Given the description of an element on the screen output the (x, y) to click on. 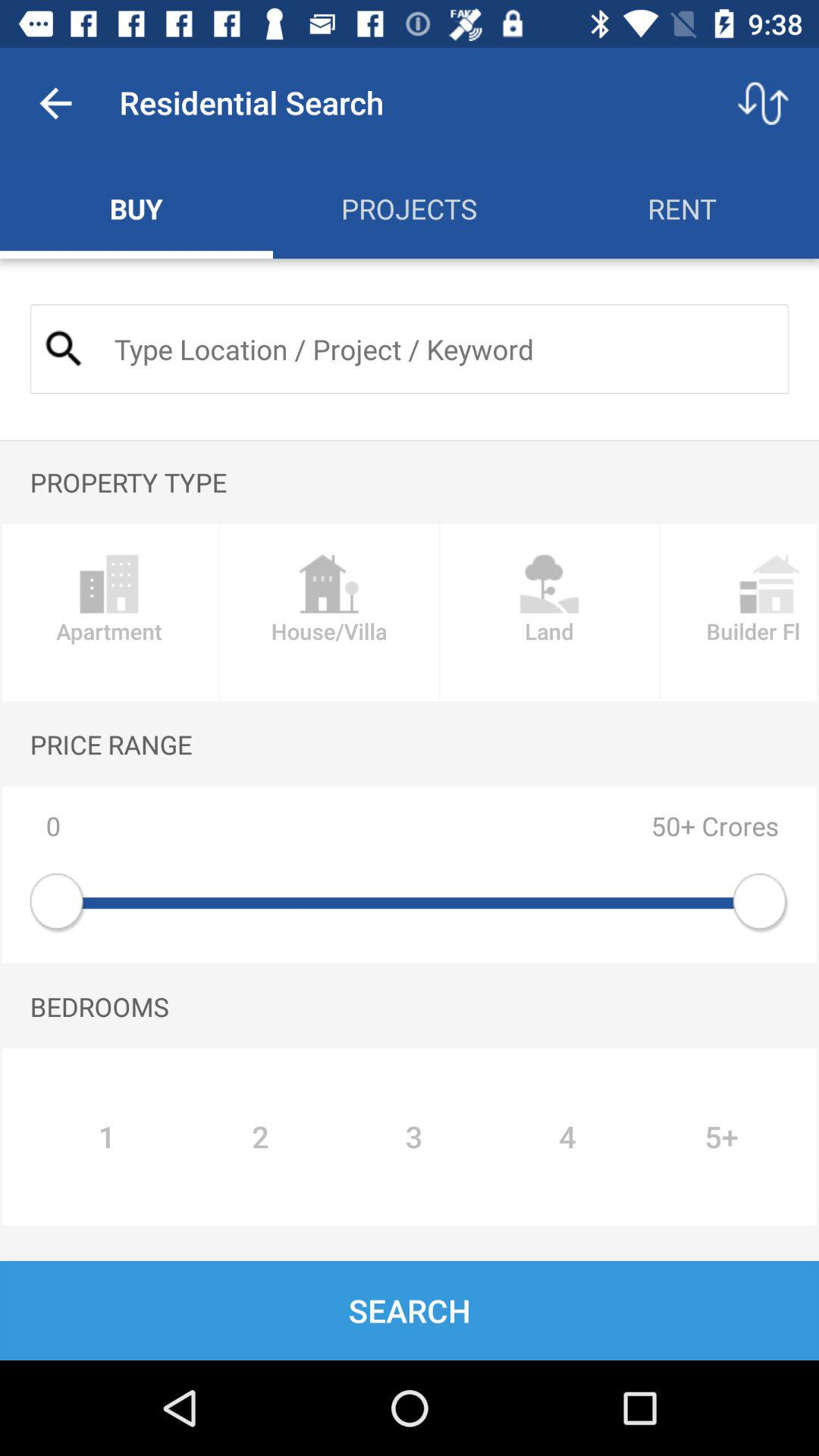
turn on icon to the left of the 2 (106, 1137)
